Given the description of an element on the screen output the (x, y) to click on. 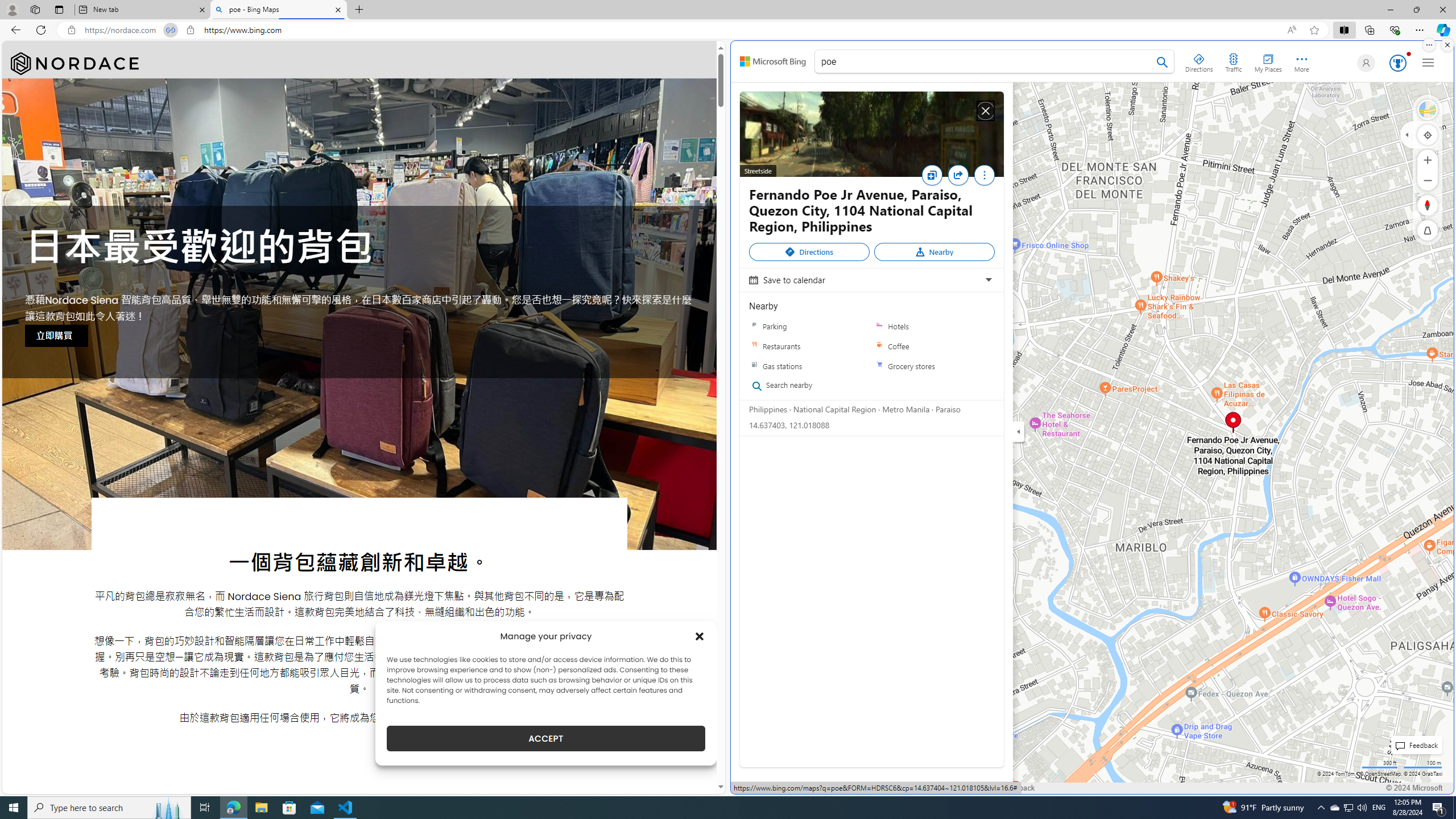
Class: cmplz-close (699, 636)
Save (934, 178)
AutomationID: rh_meter (1397, 62)
Personal Profile (12, 9)
My Places (1267, 60)
Reset to Default Rotation (1427, 204)
About our ads (930, 787)
Animation (1408, 53)
Workspaces (34, 9)
Coffee (933, 345)
